Given the description of an element on the screen output the (x, y) to click on. 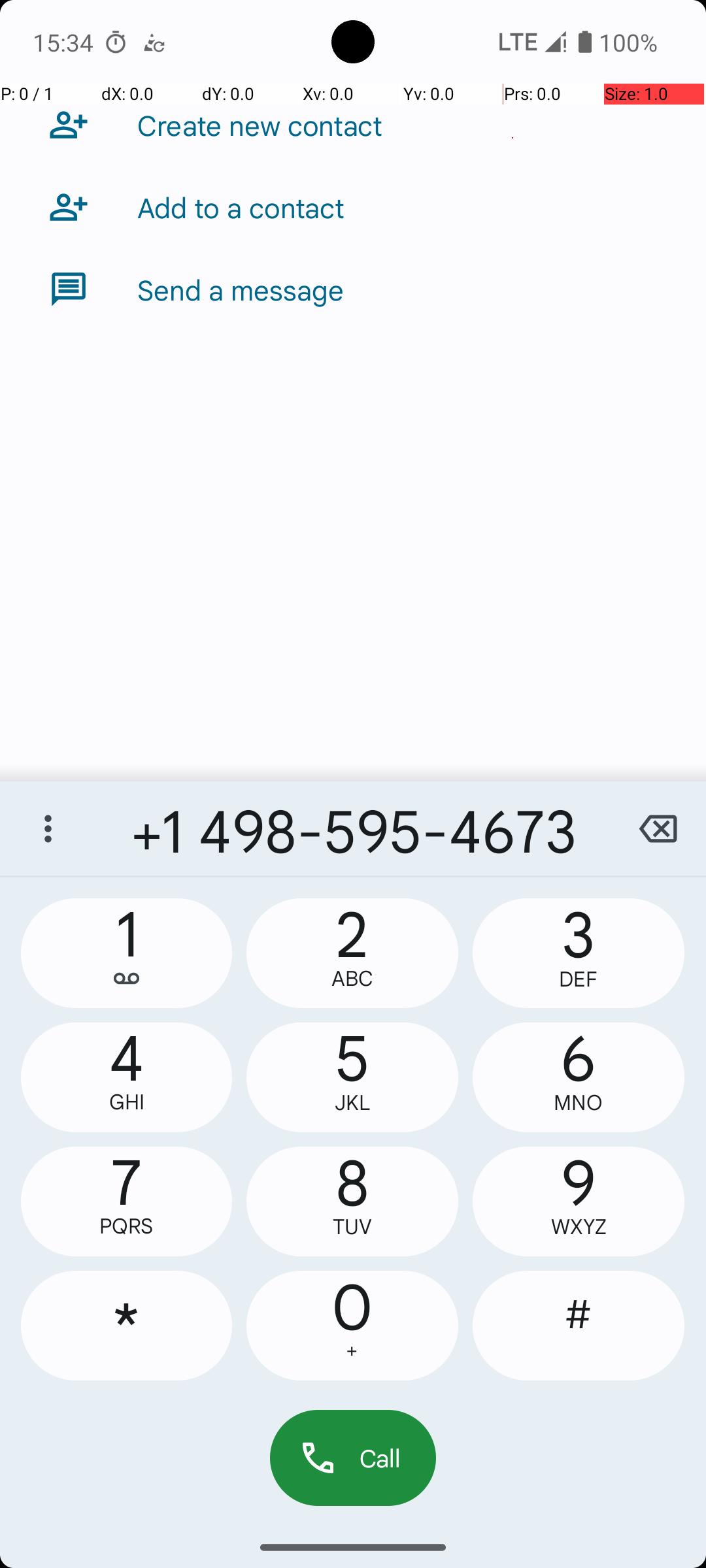
+1 498-595-4673 Element type: android.widget.EditText (352, 828)
Add to a contact Element type: android.widget.TextView (240, 206)
Send a message Element type: android.widget.TextView (240, 289)
